Given the description of an element on the screen output the (x, y) to click on. 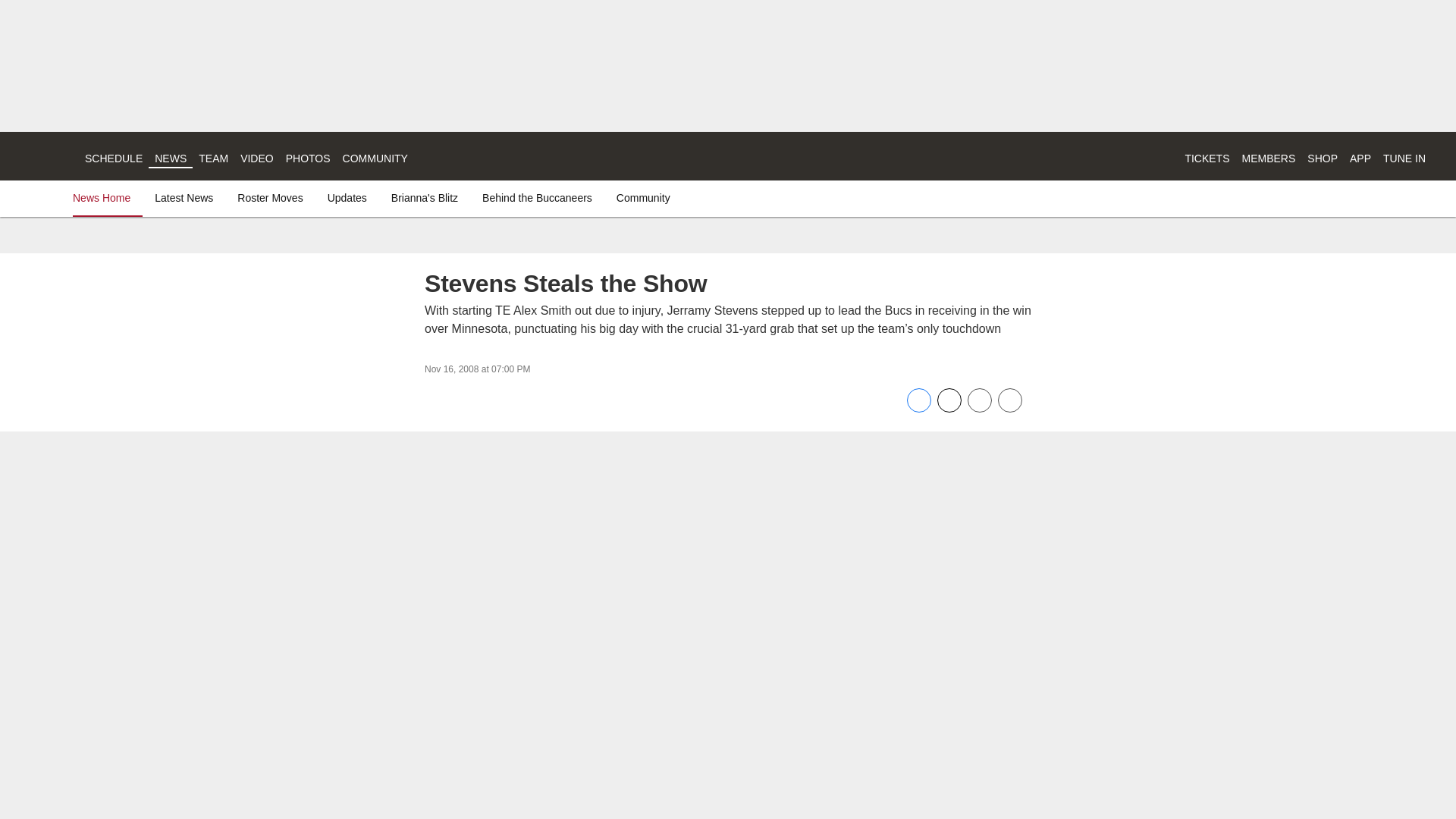
SHOP (1322, 157)
TICKETS (1206, 157)
NEWS (170, 157)
MEMBERS (1268, 157)
COMMUNITY (374, 157)
SHOP (1322, 157)
MEMBERS (1268, 157)
Roster Moves (269, 197)
VIDEO (256, 157)
Updates (346, 197)
